Given the description of an element on the screen output the (x, y) to click on. 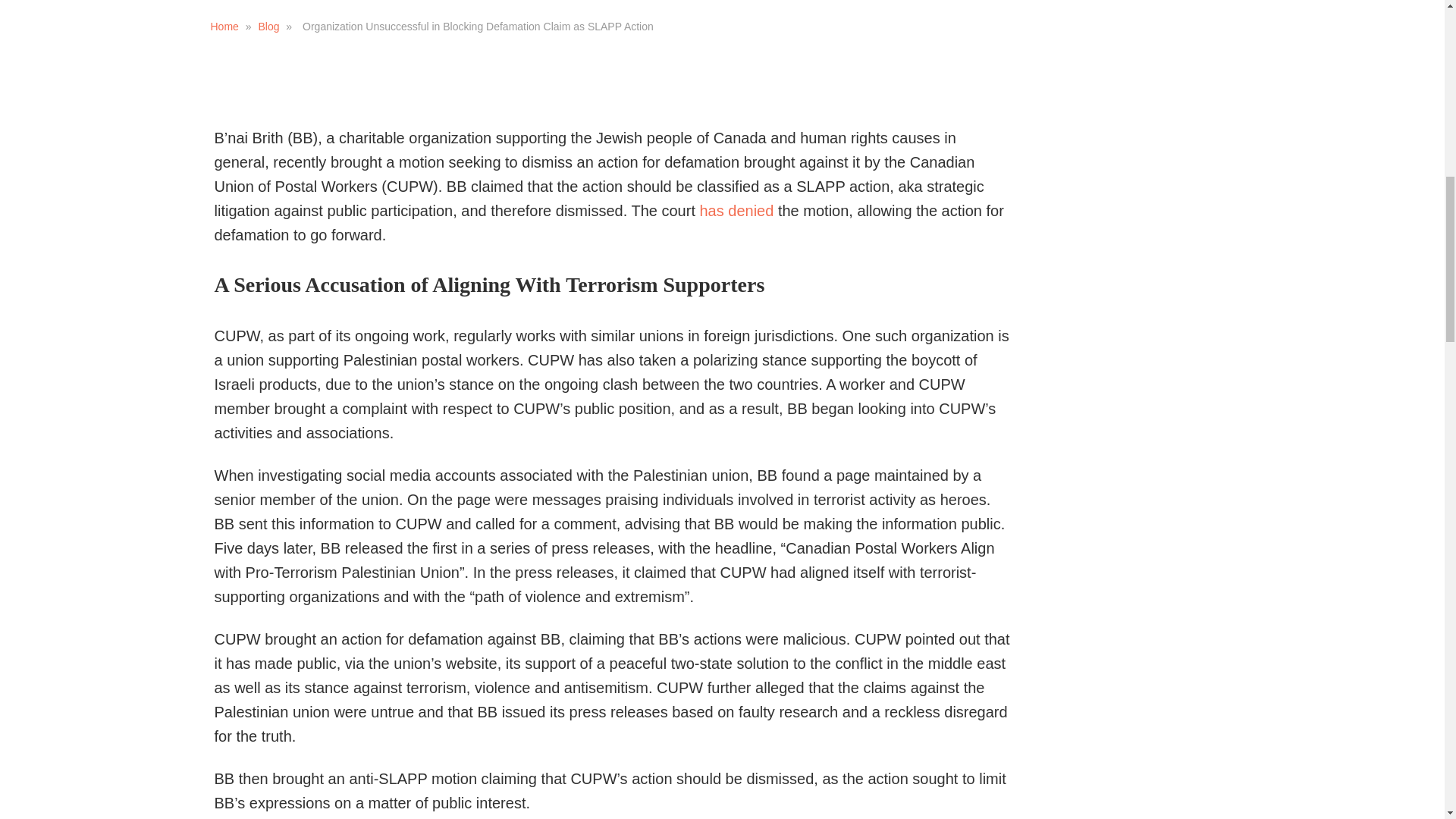
Blog (268, 26)
Home (224, 26)
has denied (735, 210)
